Given the description of an element on the screen output the (x, y) to click on. 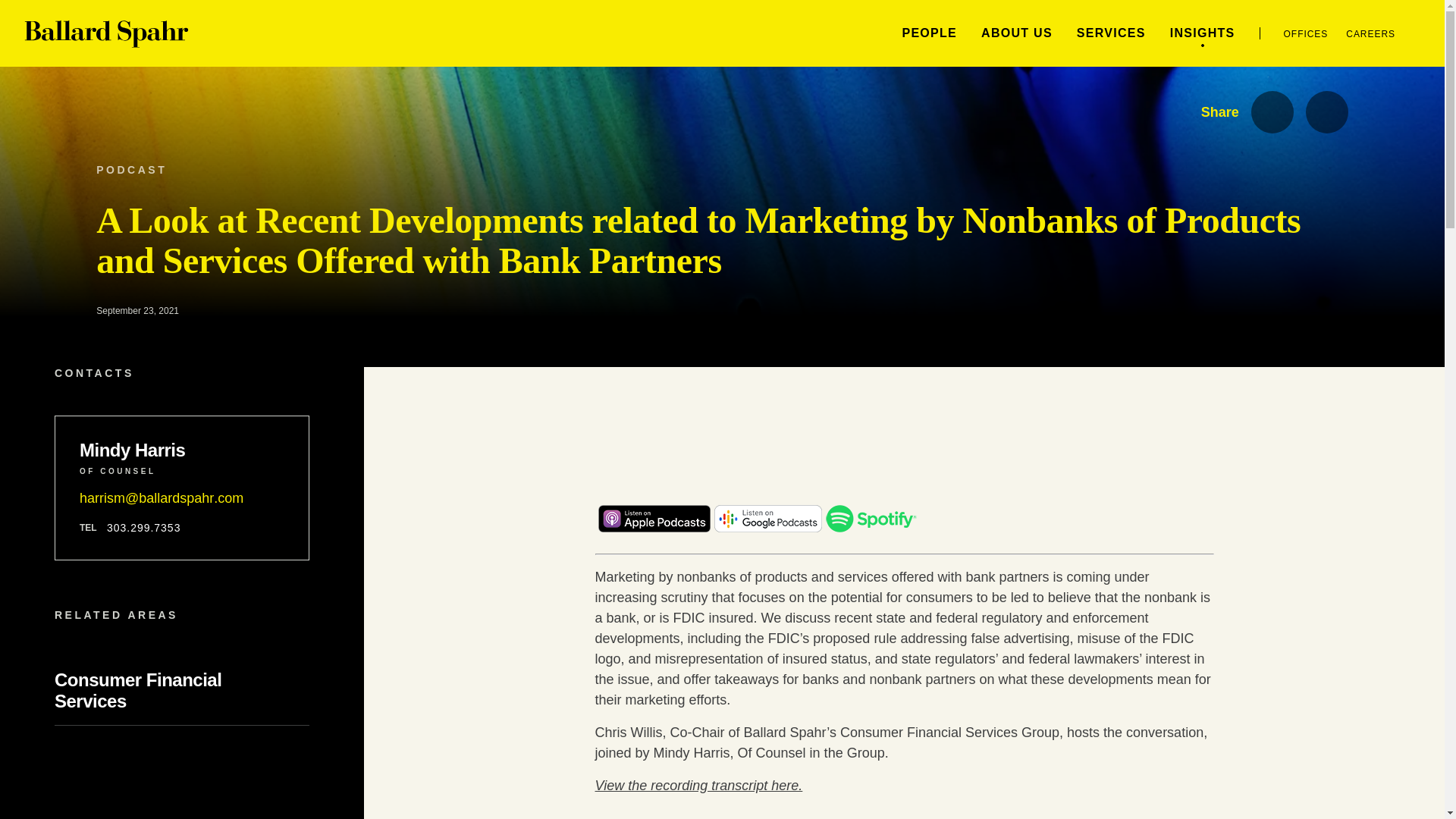
SERVICES (1111, 32)
Consumer Financial Services (138, 690)
CAREERS (1369, 33)
303.299.7353 (143, 527)
Listen on Apple Podcasts (653, 527)
Listen on Google Podcasts (768, 527)
PEOPLE (928, 32)
INSIGHTS (1202, 32)
Mindy Harris (181, 450)
OFFICES (1305, 33)
